Given the description of an element on the screen output the (x, y) to click on. 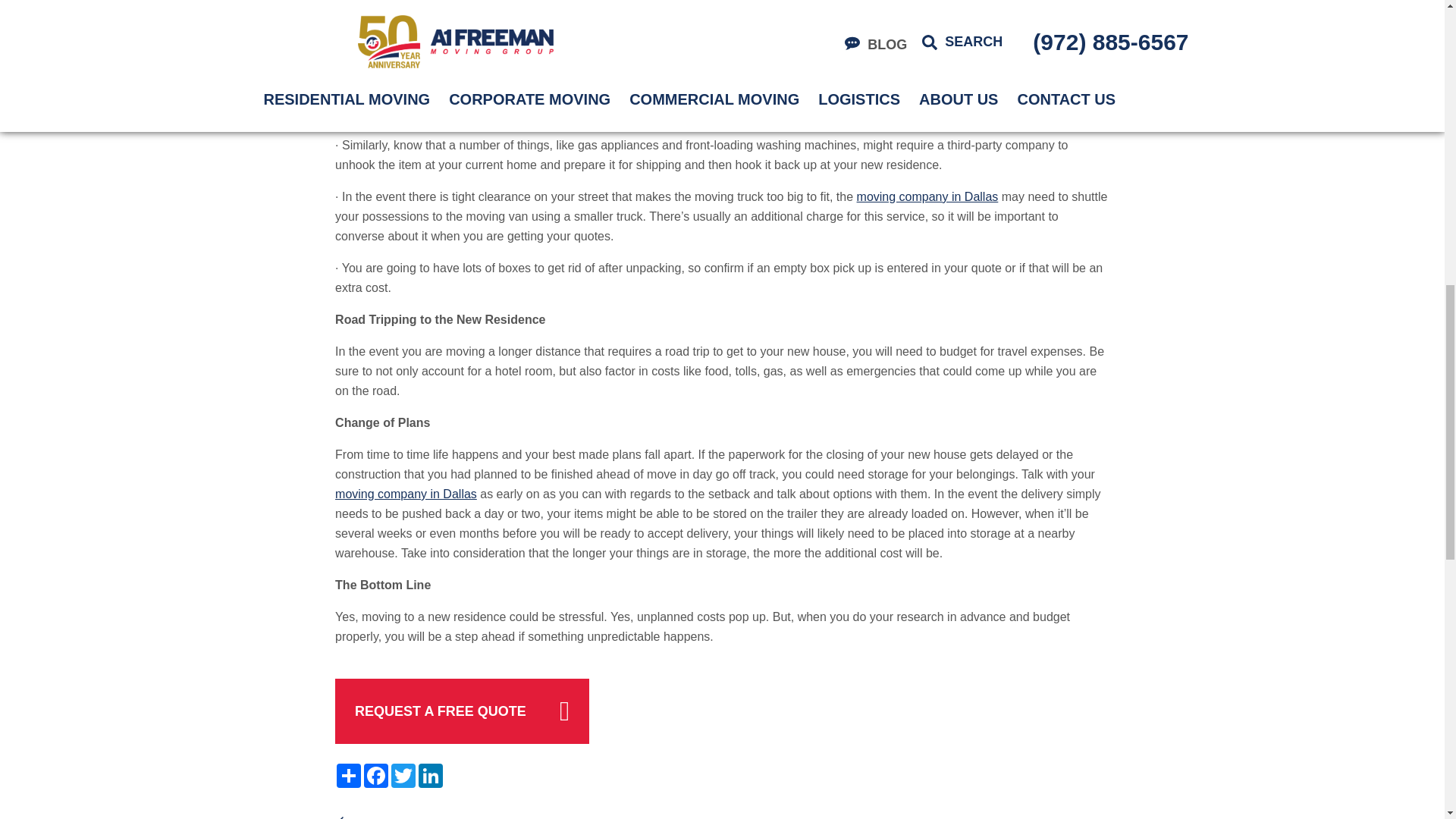
Residential Movers (405, 493)
Residential Movers (609, 4)
Residential Movers (927, 196)
Residential Movers (478, 113)
